Given the description of an element on the screen output the (x, y) to click on. 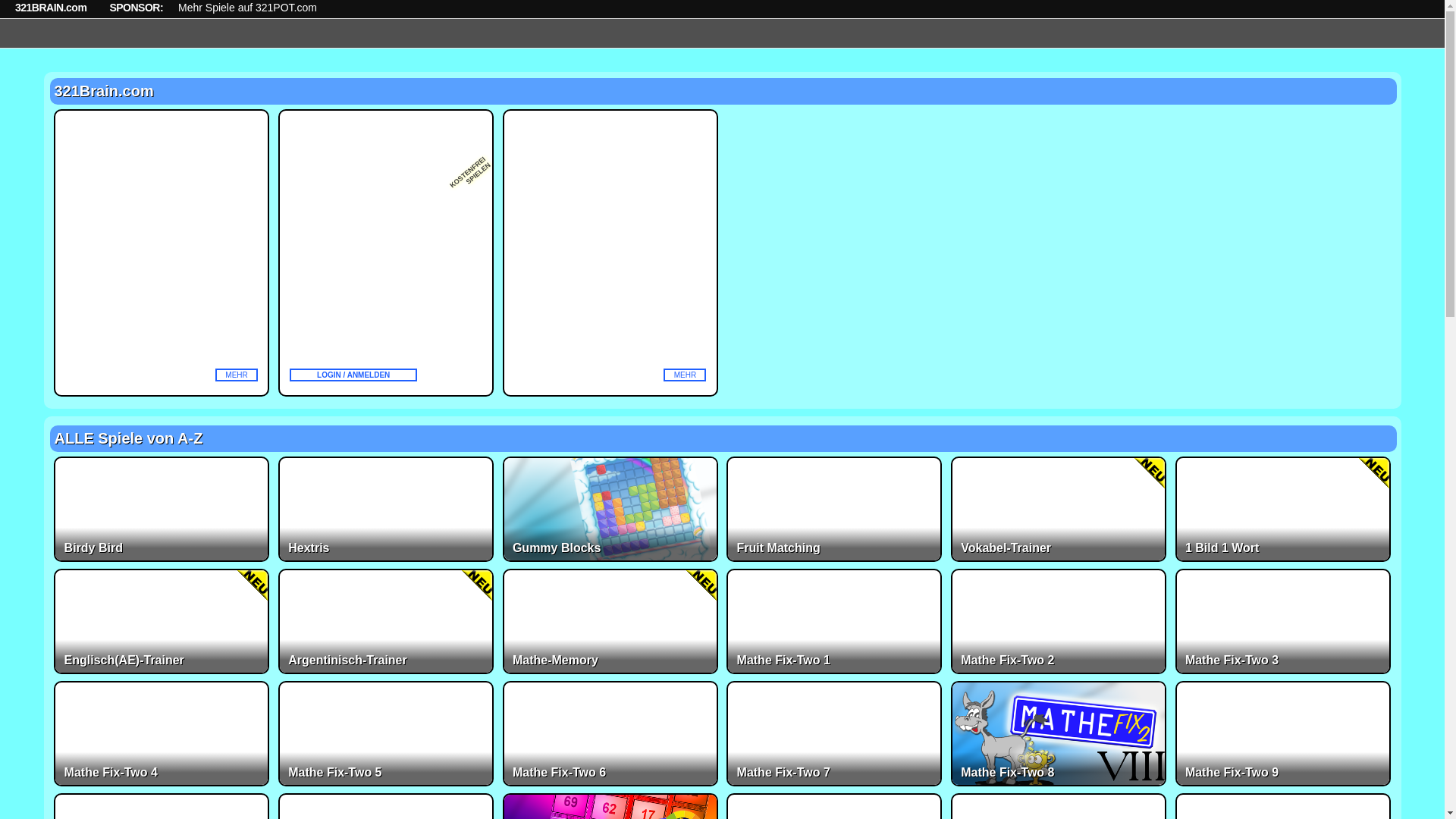
Mathe Fix-Two 3 Element type: hover (1282, 621)
Argentinisch-Trainer Element type: text (385, 621)
Hextris Element type: text (385, 508)
Mathe Fix-Two 1 Element type: hover (834, 621)
Mathe Fix-Two 4 Element type: hover (161, 733)
Mathe Fix-Two 3 Element type: text (1282, 621)
Mathe Fix-Two 4 Element type: text (161, 733)
Mathe Fix-Two 7 Element type: hover (834, 733)
Mathe Fix-Two 2 Element type: hover (1058, 621)
Mathe Fix-Two 5 Element type: text (385, 733)
Birdy Bird Element type: text (161, 508)
Mathe-Memory Element type: hover (610, 621)
Mathe Fix-Two 8 Element type: hover (1058, 733)
KOSTENFREI
SPIELEN
LOGIN / ANMELDEN Element type: text (385, 252)
Mathe-Memory Element type: text (610, 621)
Vokabel-Trainer Element type: hover (1058, 509)
Gummy Blocks Element type: text (610, 508)
Mathe Fix-Two 2 Element type: text (1058, 621)
Englisch(AE)-Trainer Element type: text (161, 621)
Birdy Bird Element type: hover (161, 509)
Argentinisch-Trainer Element type: hover (385, 621)
Hextris Element type: hover (385, 509)
Mathe Fix-Two 6 Element type: hover (610, 733)
1 Bild 1 Wort Element type: hover (1282, 509)
Mathe Fix-Two 6 Element type: text (610, 733)
Englisch(AE)-Trainer Element type: hover (161, 621)
1 Bild 1 Wort Element type: text (1282, 508)
Vokabel-Trainer Element type: text (1058, 508)
Mathe Fix-Two 5 Element type: hover (385, 733)
MEHR Element type: text (161, 252)
Mathe Fix-Two 9 Element type: hover (1282, 733)
MEHR Element type: text (610, 252)
Mehr Spiele auf 321POT.com Element type: text (247, 8)
Fruit Matching Element type: hover (834, 509)
Mathe Fix-Two 7 Element type: text (833, 733)
Gummy Blocks Element type: hover (610, 509)
Mathe Fix-Two 8 Element type: text (1058, 733)
Fruit Matching Element type: text (833, 508)
Mathe Fix-Two 1 Element type: text (833, 621)
Mathe Fix-Two 9 Element type: text (1282, 733)
